Given the description of an element on the screen output the (x, y) to click on. 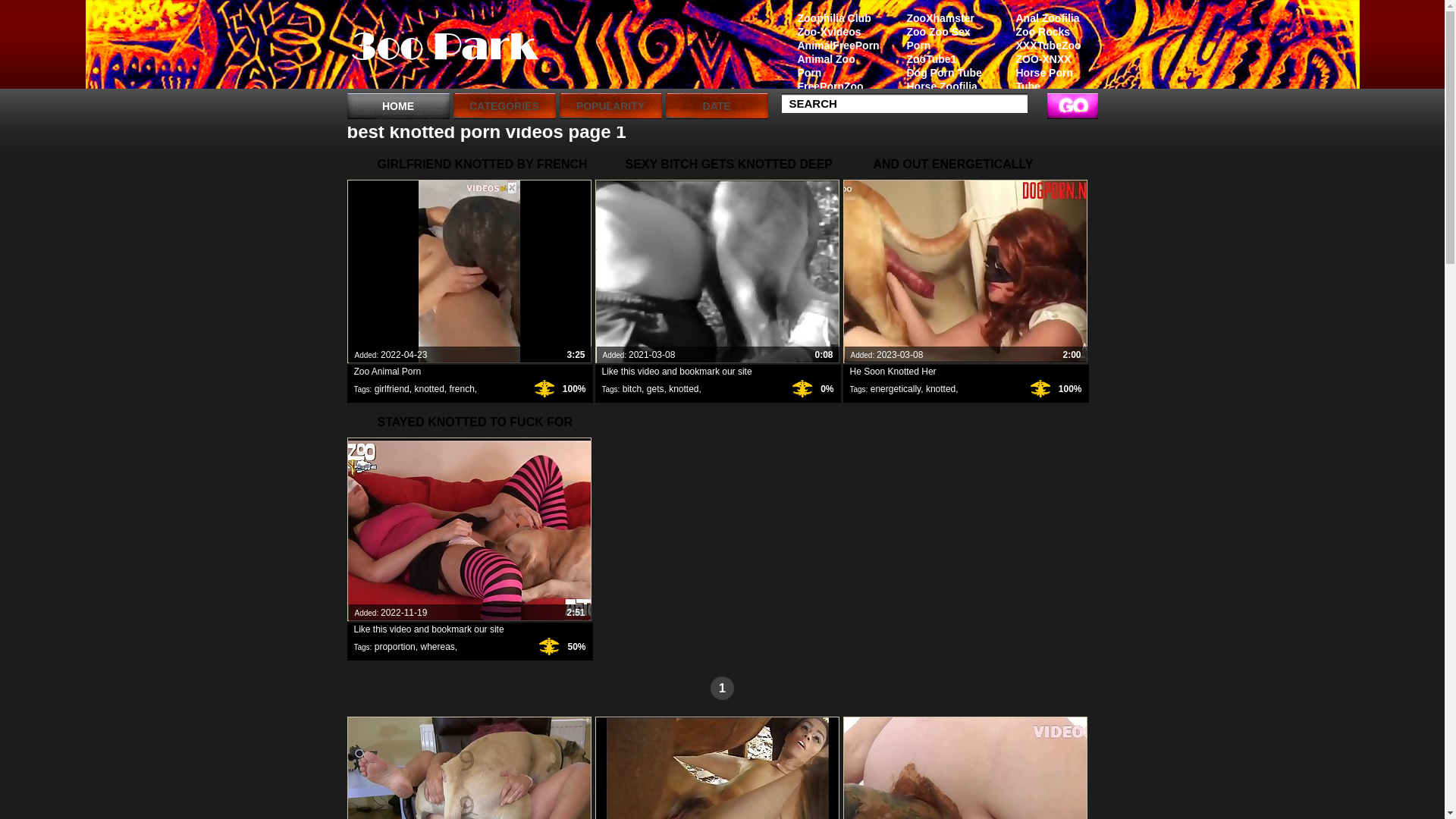
Zoo Rocks Element type: text (1048, 31)
8 animal Element type: text (443, 47)
whereas Element type: text (437, 646)
Dog Porn Tube Element type: text (939, 72)
AnimalFreePorn Element type: text (830, 45)
Animal Zoo Porn Element type: text (830, 65)
ZOO-XNXX Element type: text (1048, 58)
proportion Element type: text (394, 646)
knotted Element type: text (683, 388)
XXXTubeZoo Element type: text (1048, 45)
ZooTube1 Element type: text (939, 58)
DATE Element type: text (716, 106)
french Element type: text (460, 388)
knotted Element type: text (940, 388)
1 Element type: text (722, 687)
Zoophilia Club Element type: text (830, 18)
HOME Element type: text (398, 106)
bitch Element type: text (631, 388)
CATEGORIES Element type: text (504, 106)
knotted Element type: text (428, 388)
POPULARITY Element type: text (610, 106)
Horse Zoofilia Tube Element type: text (939, 92)
Zoo Zoo Sex Porn Element type: text (939, 38)
Horse Porn Tube Element type: text (1048, 79)
girlfriend Element type: text (391, 388)
ZooXhamster Element type: text (939, 18)
Anal Zoofilia Element type: text (1048, 18)
FreePornZoo Element type: text (830, 86)
energetically Element type: text (895, 388)
Zoo-Xvideos Element type: text (830, 31)
gets Element type: text (655, 388)
